Given the description of an element on the screen output the (x, y) to click on. 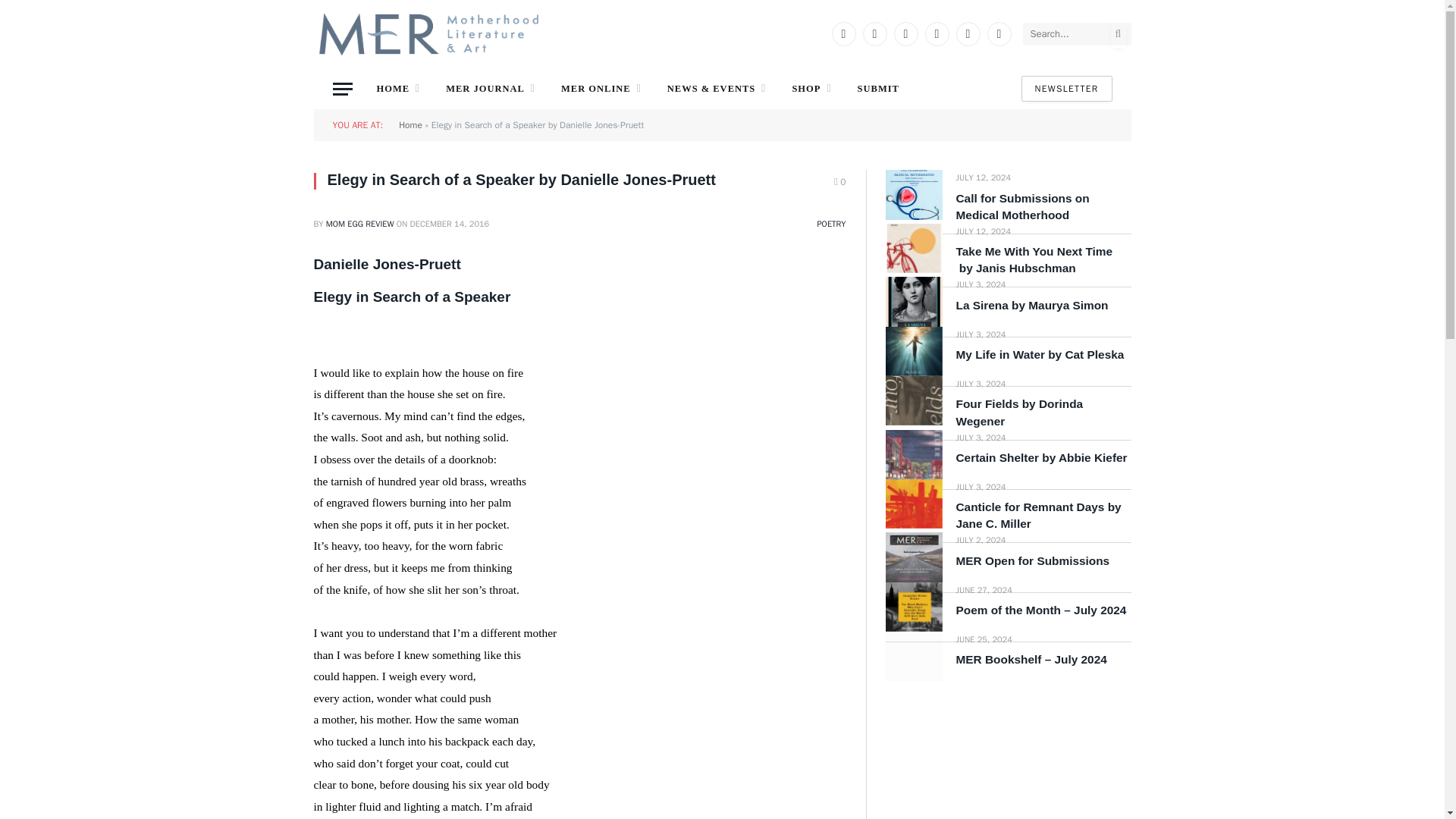
Call for Submissions on Medical Motherhood (913, 194)
Posts by Mom Egg Review (360, 223)
2016-12-14 (449, 223)
